Given the description of an element on the screen output the (x, y) to click on. 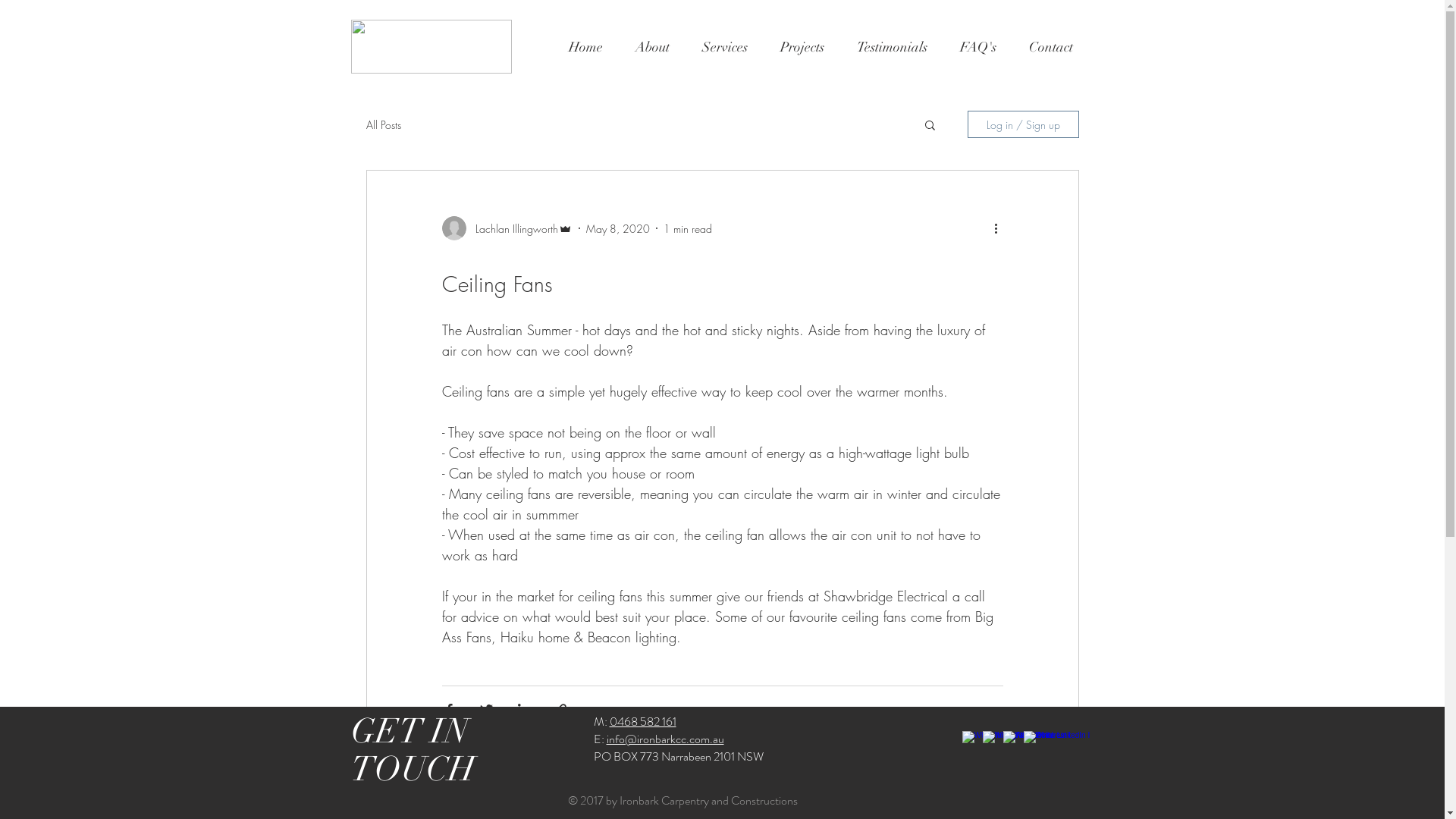
All Posts Element type: text (382, 123)
About Element type: text (651, 46)
Post not marked as liked Element type: text (995, 754)
0468 582 161 Element type: text (642, 721)
Log in / Sign up Element type: text (1023, 124)
Testimonials Element type: text (891, 46)
info@ironbarkcc.com.au Element type: text (665, 738)
FAQ's Element type: text (977, 46)
Services Element type: text (724, 46)
Contact Element type: text (1051, 46)
Home Element type: text (585, 46)
Projects Element type: text (802, 46)
